Given the description of an element on the screen output the (x, y) to click on. 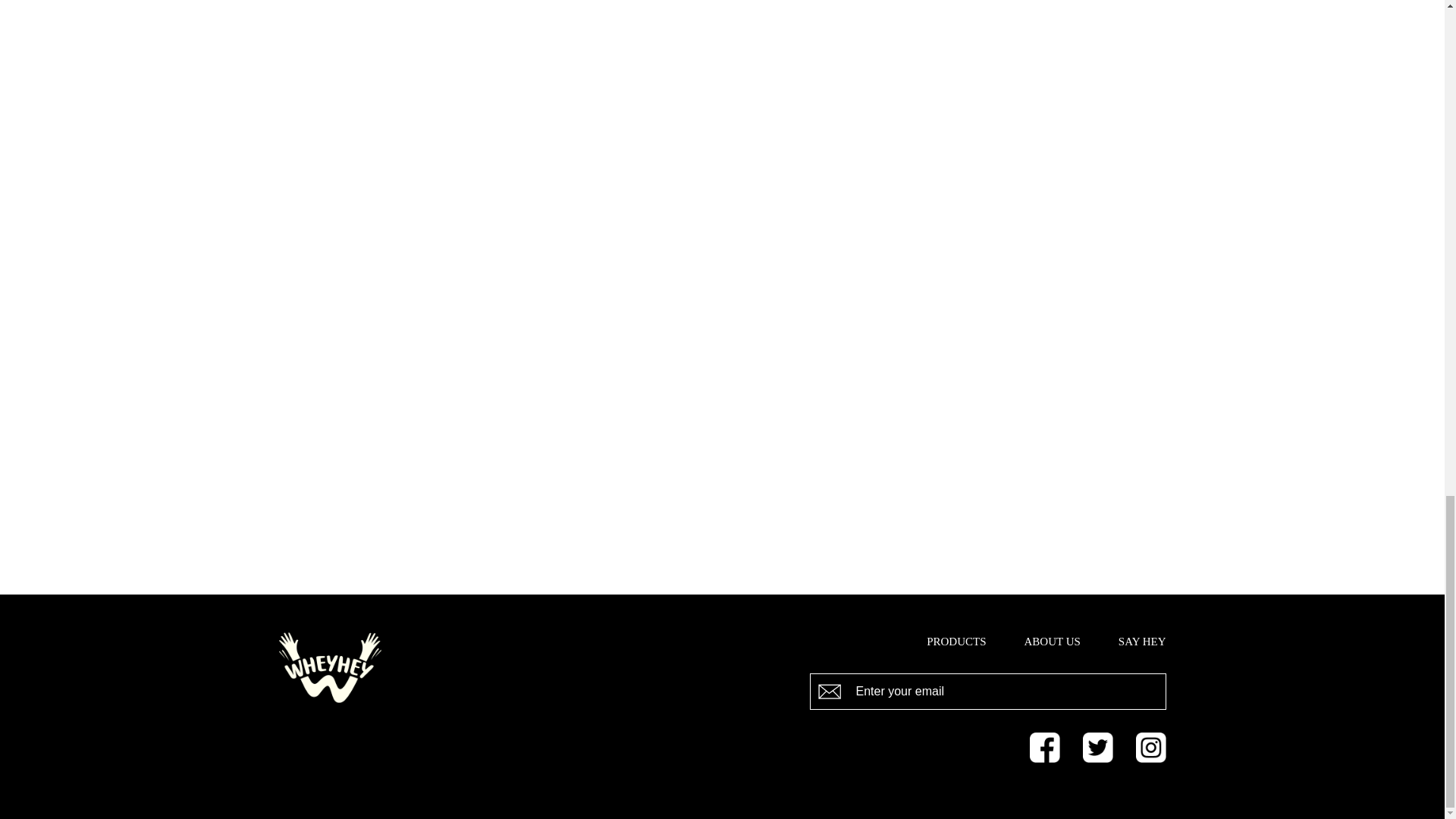
PRODUCTS (955, 641)
SAY HEY (1142, 641)
ABOUT US (1052, 641)
